Given the description of an element on the screen output the (x, y) to click on. 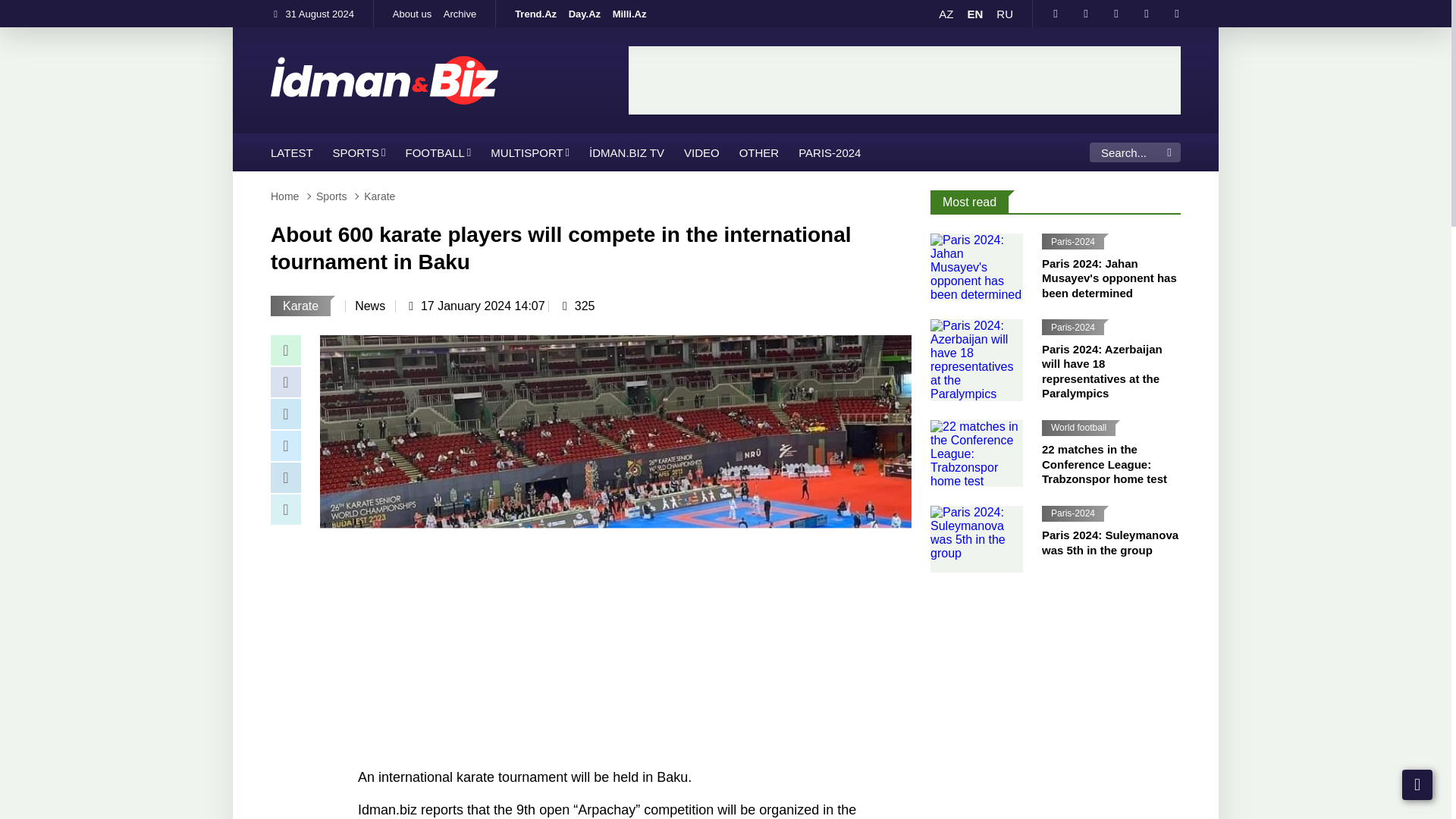
EN (974, 13)
RU (1004, 13)
Milli.Az (629, 13)
Trend.Az (535, 13)
AZ (945, 13)
Day.Az (584, 13)
Archive (459, 13)
LATEST (291, 151)
About us (412, 13)
